Given the description of an element on the screen output the (x, y) to click on. 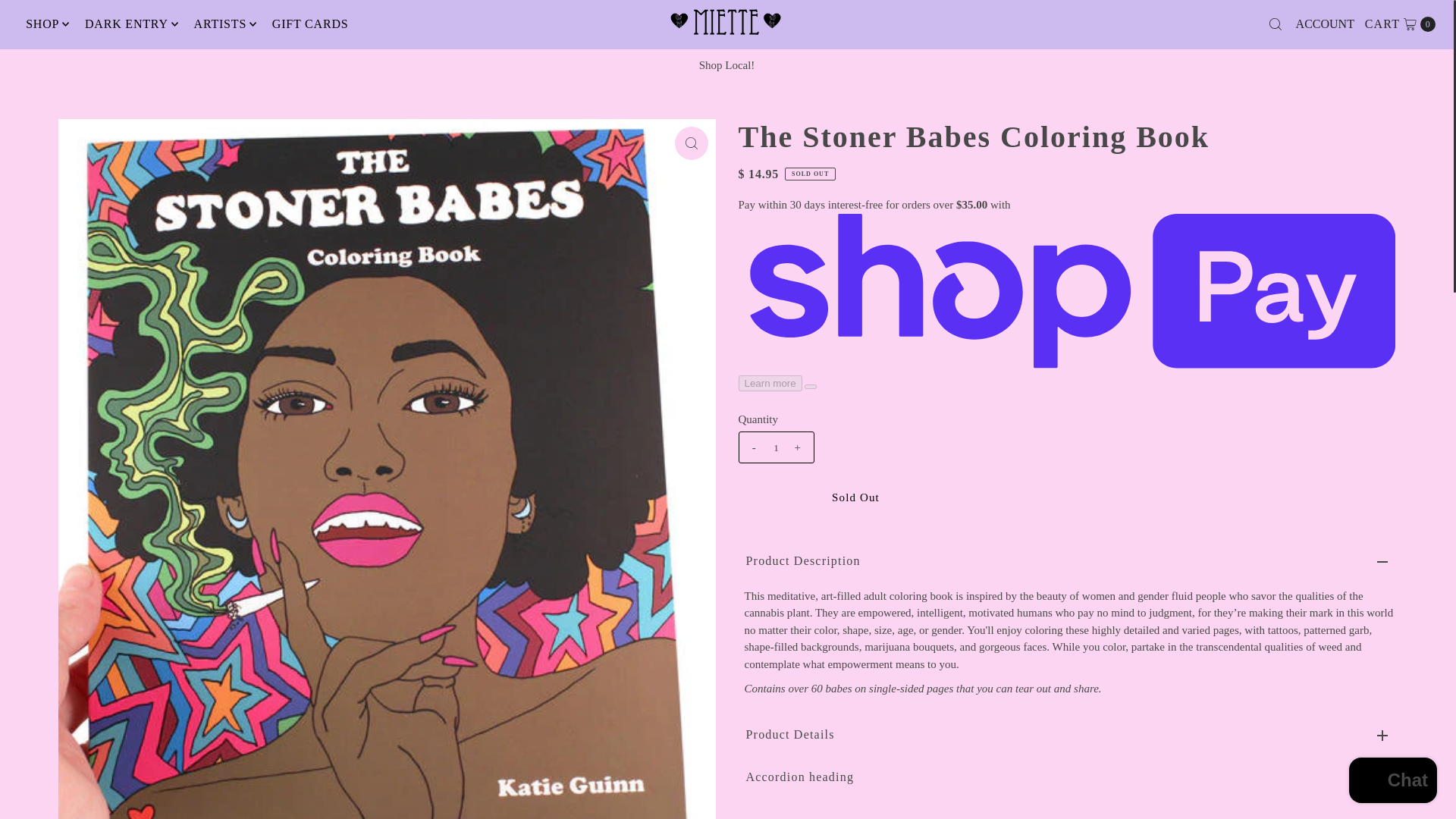
Click to zoom (691, 142)
Share on Twitter (810, 816)
SHOP (41, 24)
Share on Pinterest (836, 816)
Share on Facebook (785, 816)
Sold Out (856, 497)
